Given the description of an element on the screen output the (x, y) to click on. 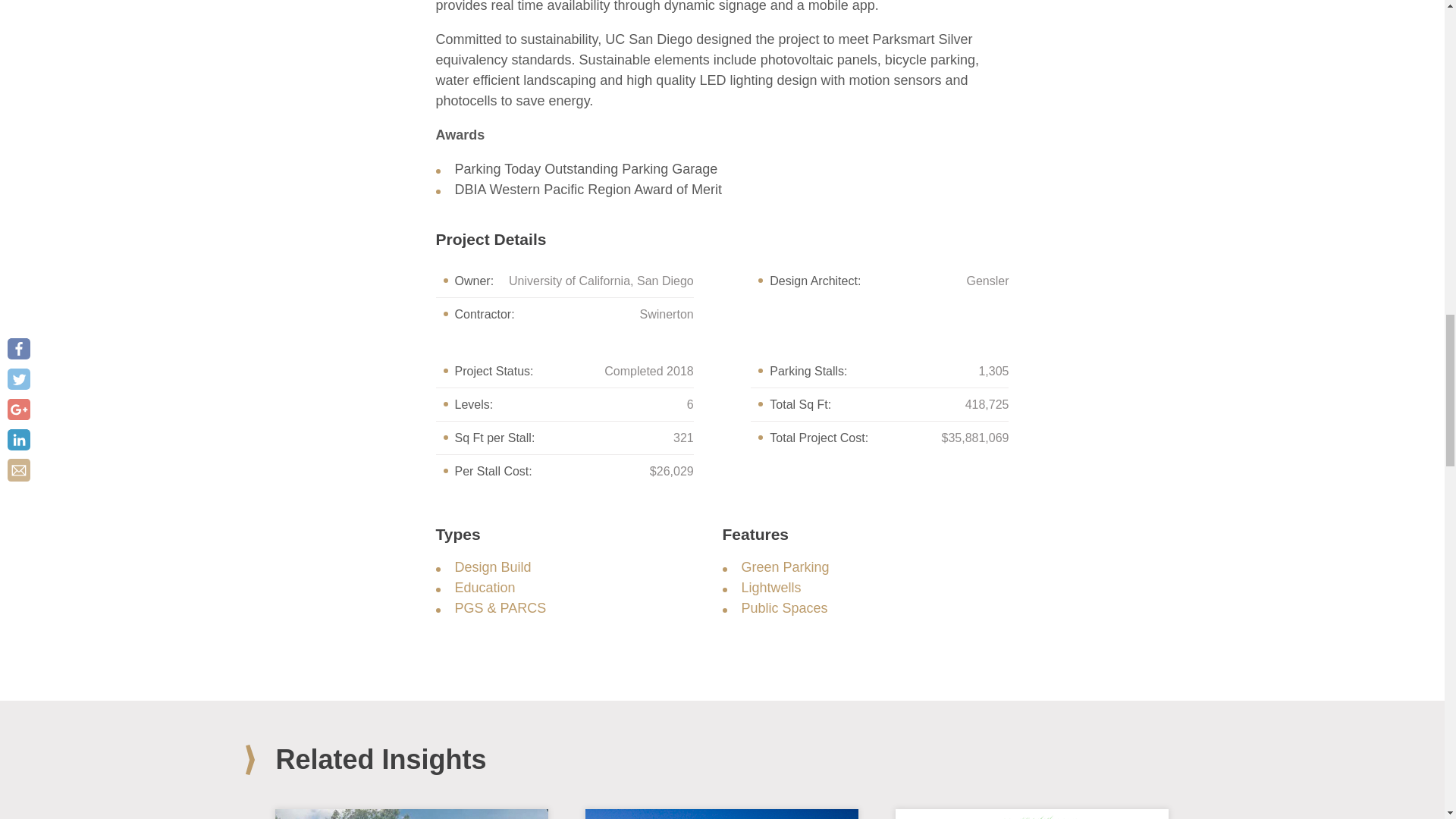
Public Spaces (784, 607)
Education (484, 587)
Design Build (492, 566)
Lightwells (771, 587)
Green Parking (785, 566)
